Given the description of an element on the screen output the (x, y) to click on. 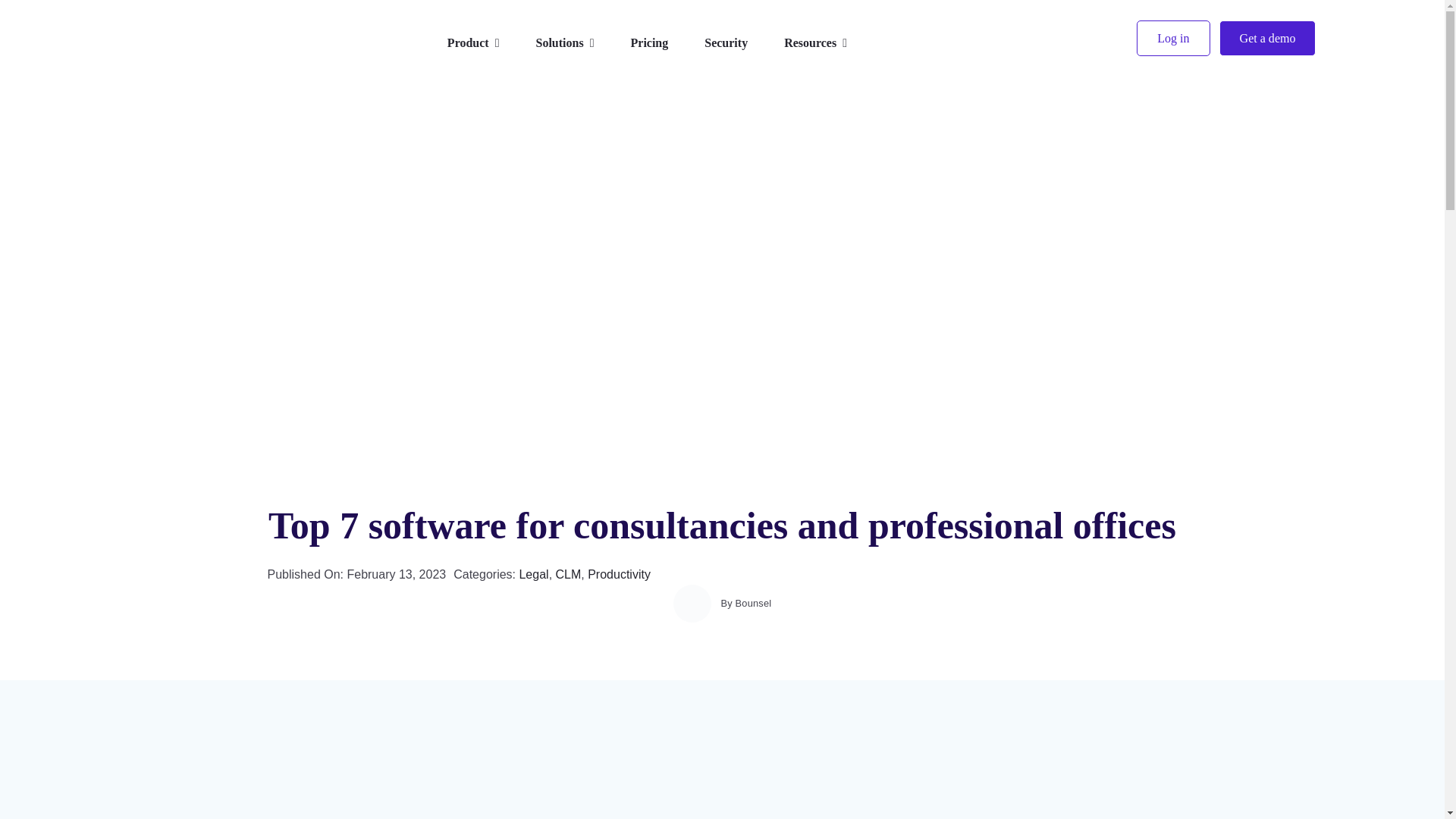
Pricing (649, 43)
Resources (815, 43)
Security (726, 43)
Solutions (564, 43)
Product (472, 43)
Log in (1173, 38)
Get a demo (1268, 38)
Get a demo (1268, 38)
